Given the description of an element on the screen output the (x, y) to click on. 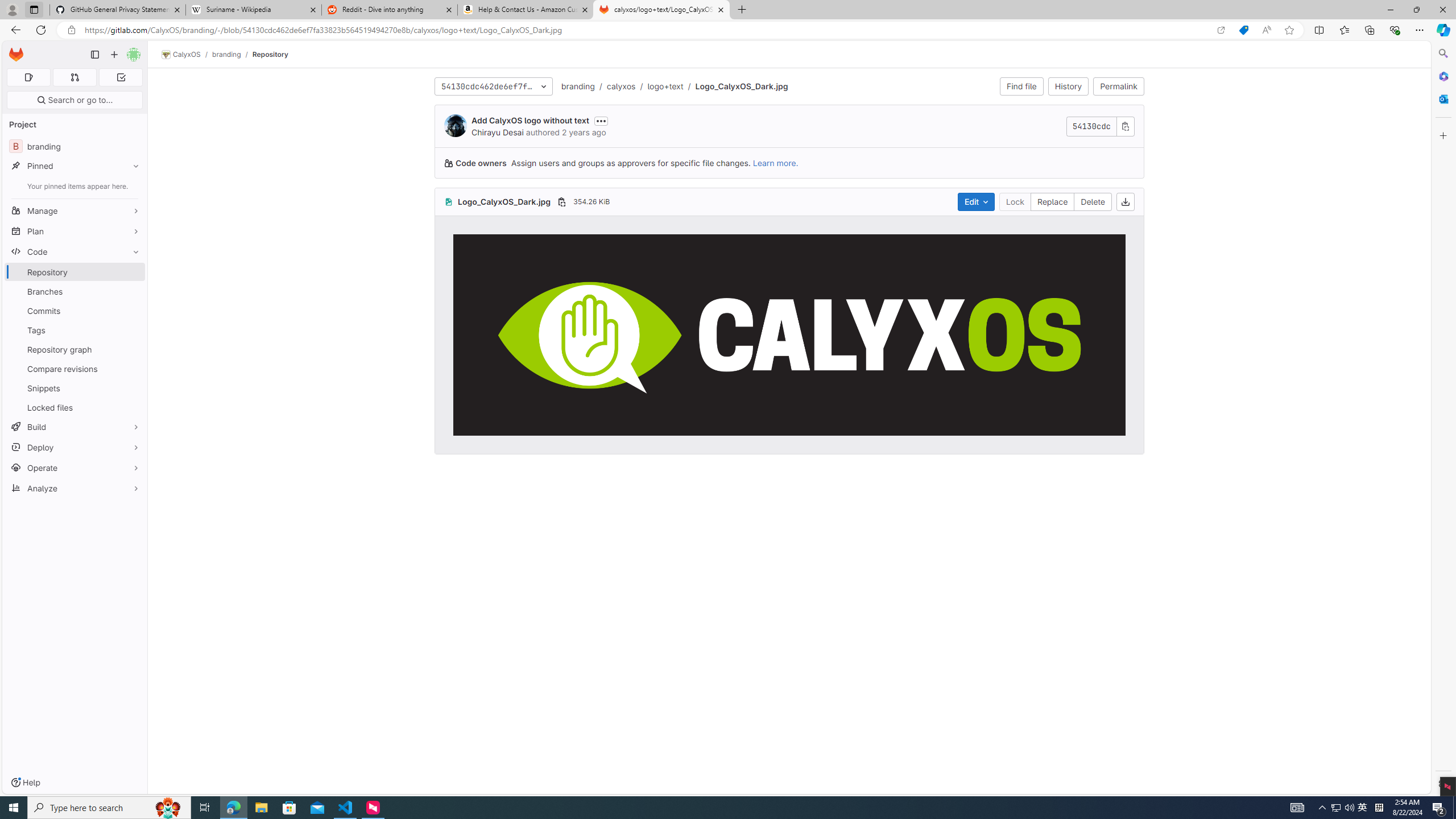
Assigned issues 0 (28, 76)
CalyxOS (180, 54)
Repository graph (74, 348)
Deploy (74, 447)
Branches (74, 290)
